Given the description of an element on the screen output the (x, y) to click on. 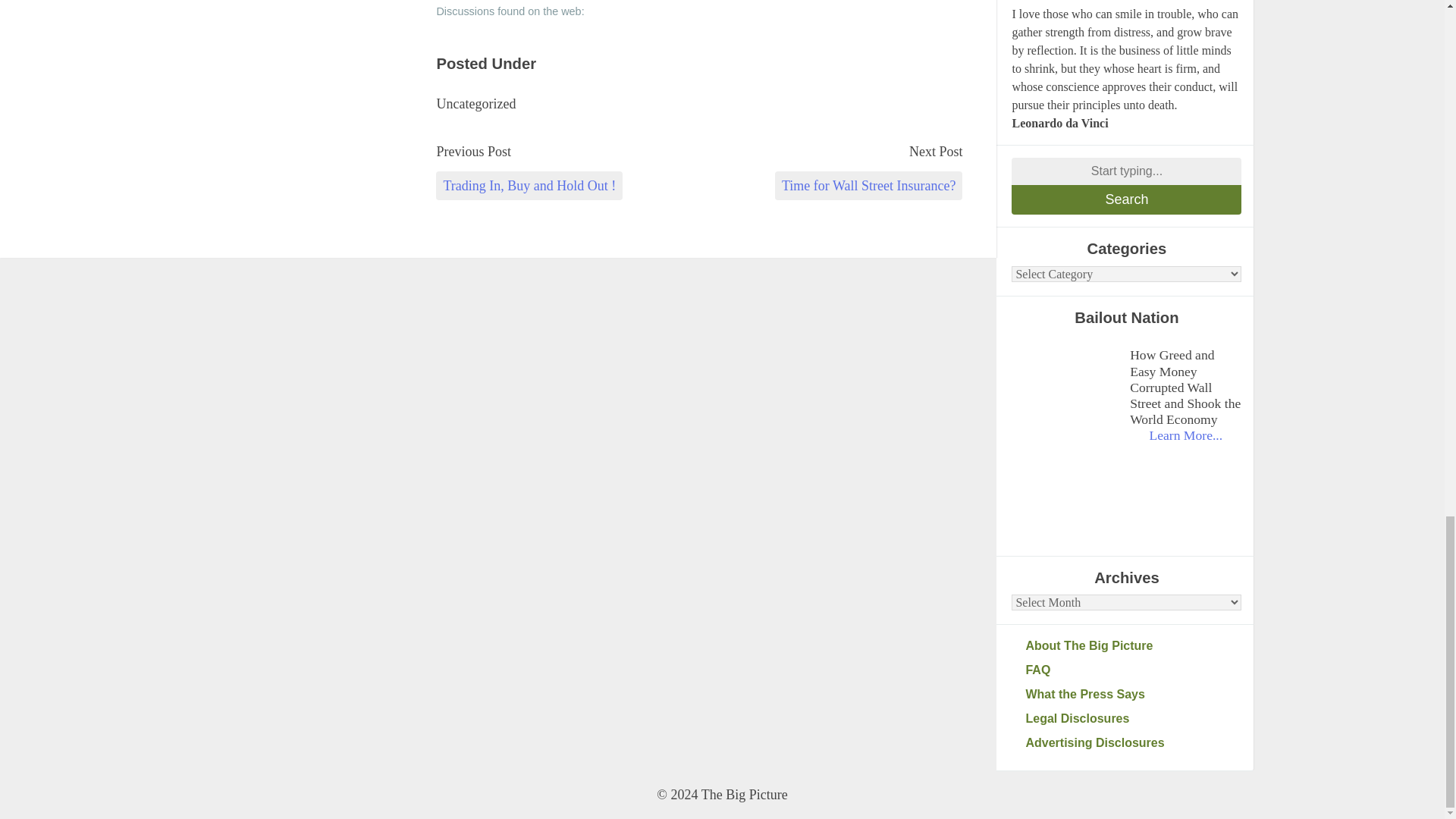
Legal Disclosures (1133, 719)
Time for Wall Street Insurance? (868, 185)
Bailout Nation (1066, 389)
Trading In, Buy and Hold Out ! (529, 185)
Search (1126, 199)
Advertising Disclosures (1133, 742)
About The Big Picture (1133, 646)
FAQ (1133, 669)
Learn More... (1185, 435)
What the Press Says (1133, 694)
Search (1126, 199)
Search (1126, 199)
